Given the description of an element on the screen output the (x, y) to click on. 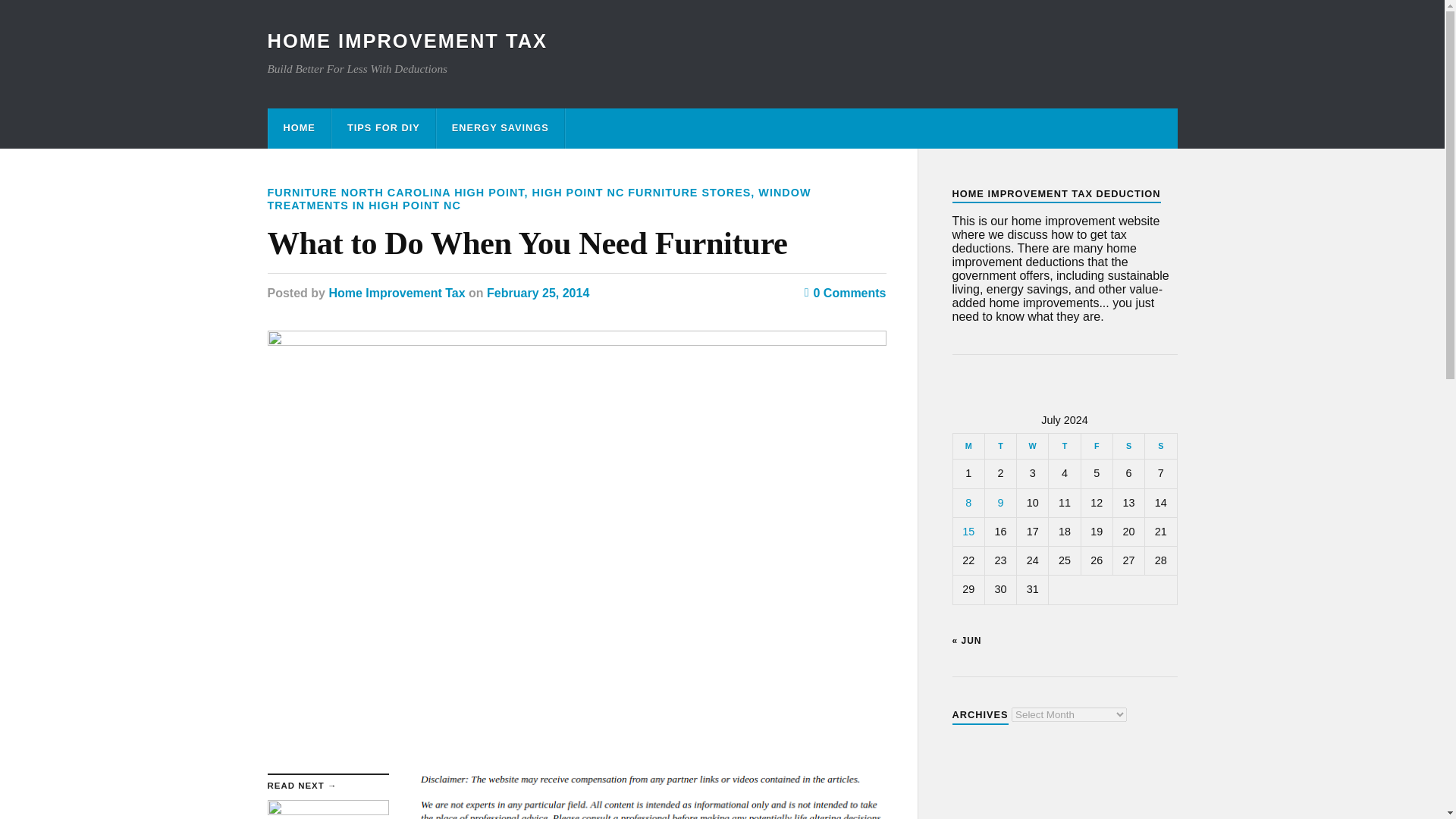
HOME (298, 128)
15 (968, 531)
WINDOW TREATMENTS IN HIGH POINT NC (538, 198)
Thursday (1064, 446)
8 (968, 501)
9 (1000, 501)
HOME IMPROVEMENT TAX (406, 40)
Friday (1096, 446)
Wednesday (1032, 446)
Home Improvement Tax (396, 292)
FURNITURE NORTH CAROLINA HIGH POINT (395, 192)
0 Comments (845, 292)
Sunday (1160, 446)
HIGH POINT NC FURNITURE STORES (641, 192)
